Given the description of an element on the screen output the (x, y) to click on. 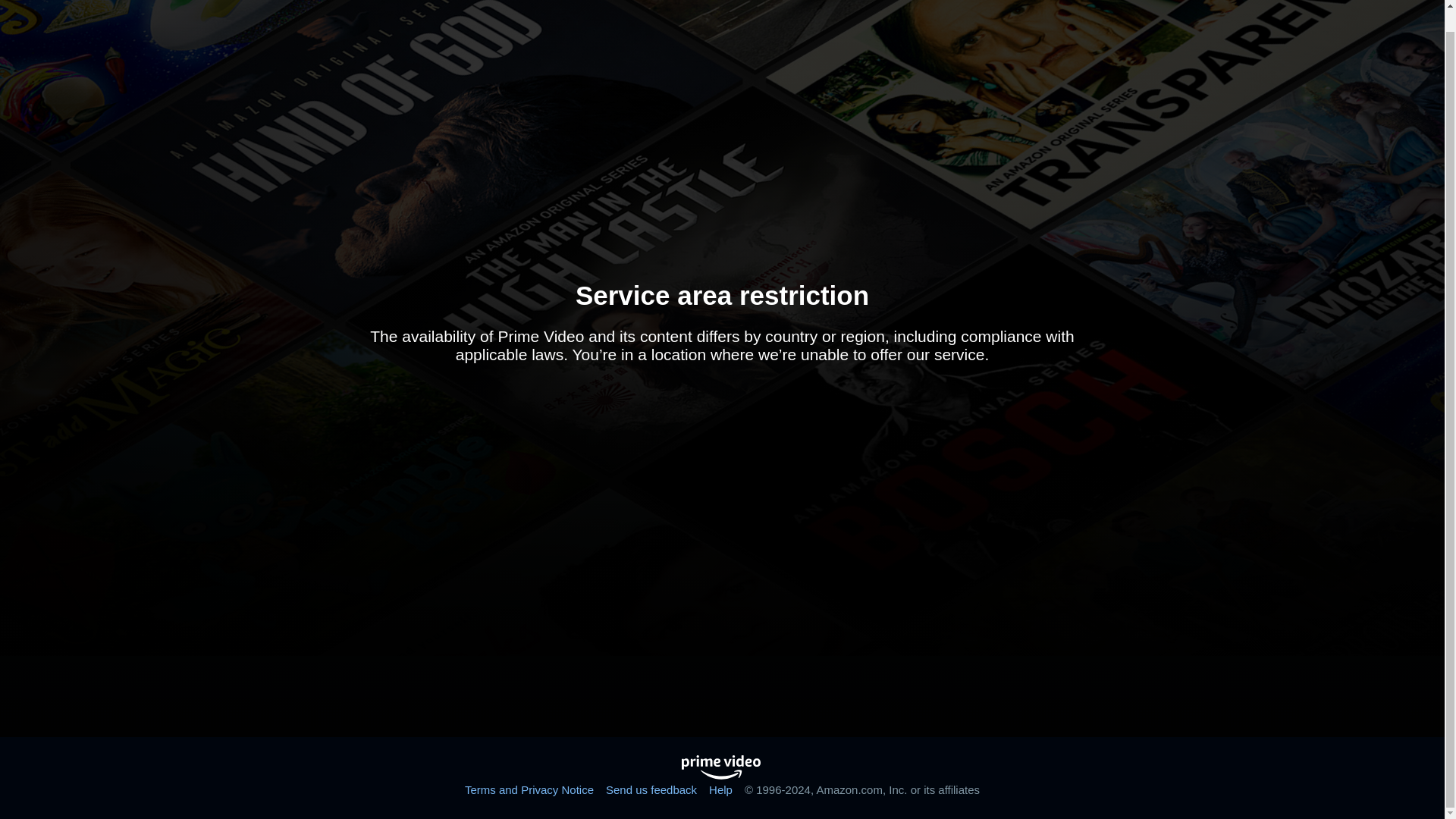
Send us feedback (651, 789)
Terms and Privacy Notice (529, 789)
Help (720, 789)
